Given the description of an element on the screen output the (x, y) to click on. 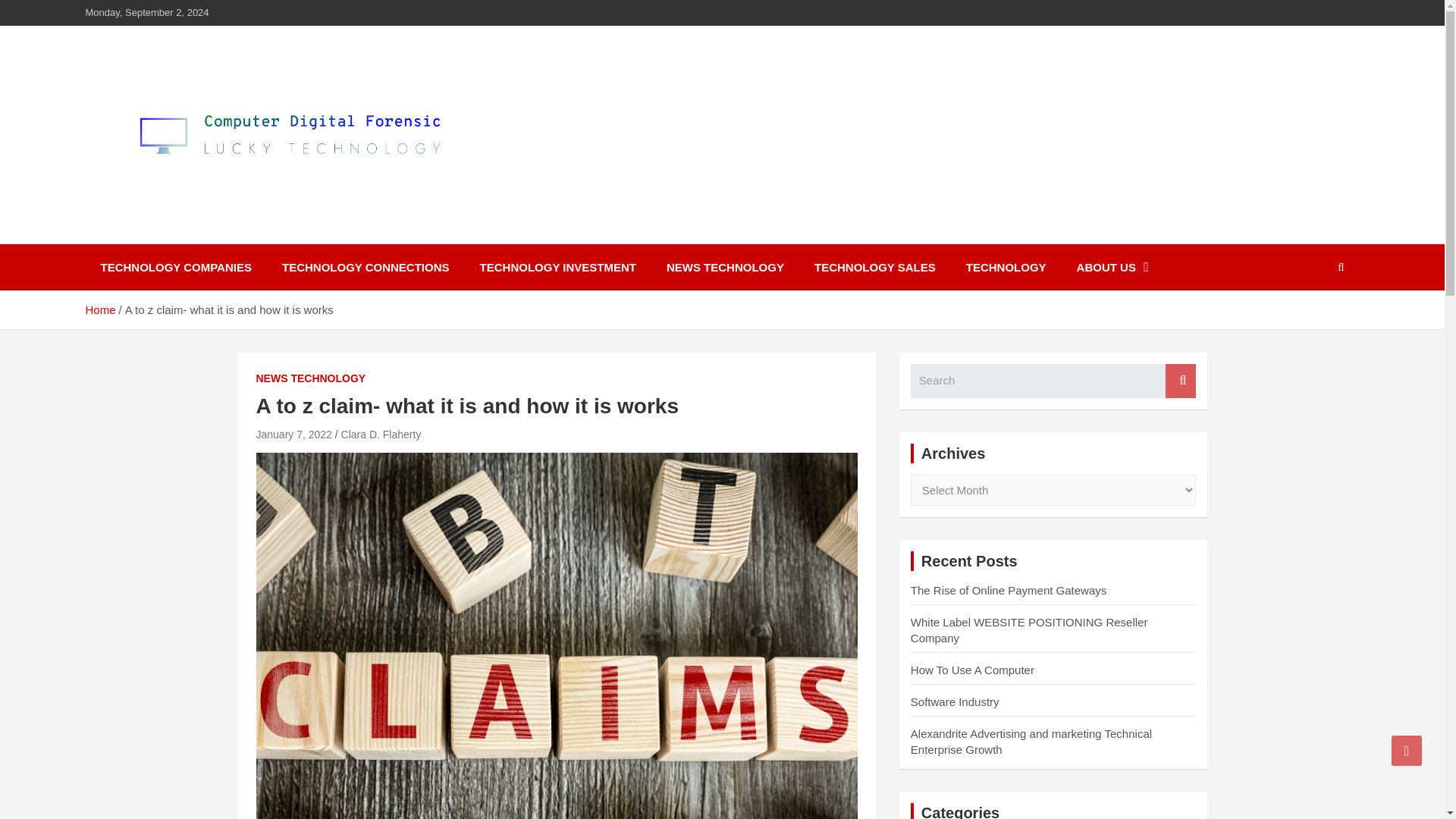
Home (99, 309)
Go to Top (1406, 750)
ABOUT US (1112, 267)
White Label WEBSITE POSITIONING Reseller Company (1029, 629)
January 7, 2022 (293, 434)
NEWS TECHNOLOGY (311, 378)
TECHNOLOGY CONNECTIONS (365, 267)
TECHNOLOGY (1005, 267)
TECHNOLOGY INVESTMENT (557, 267)
Computer Digital Forensic (274, 233)
